Given the description of an element on the screen output the (x, y) to click on. 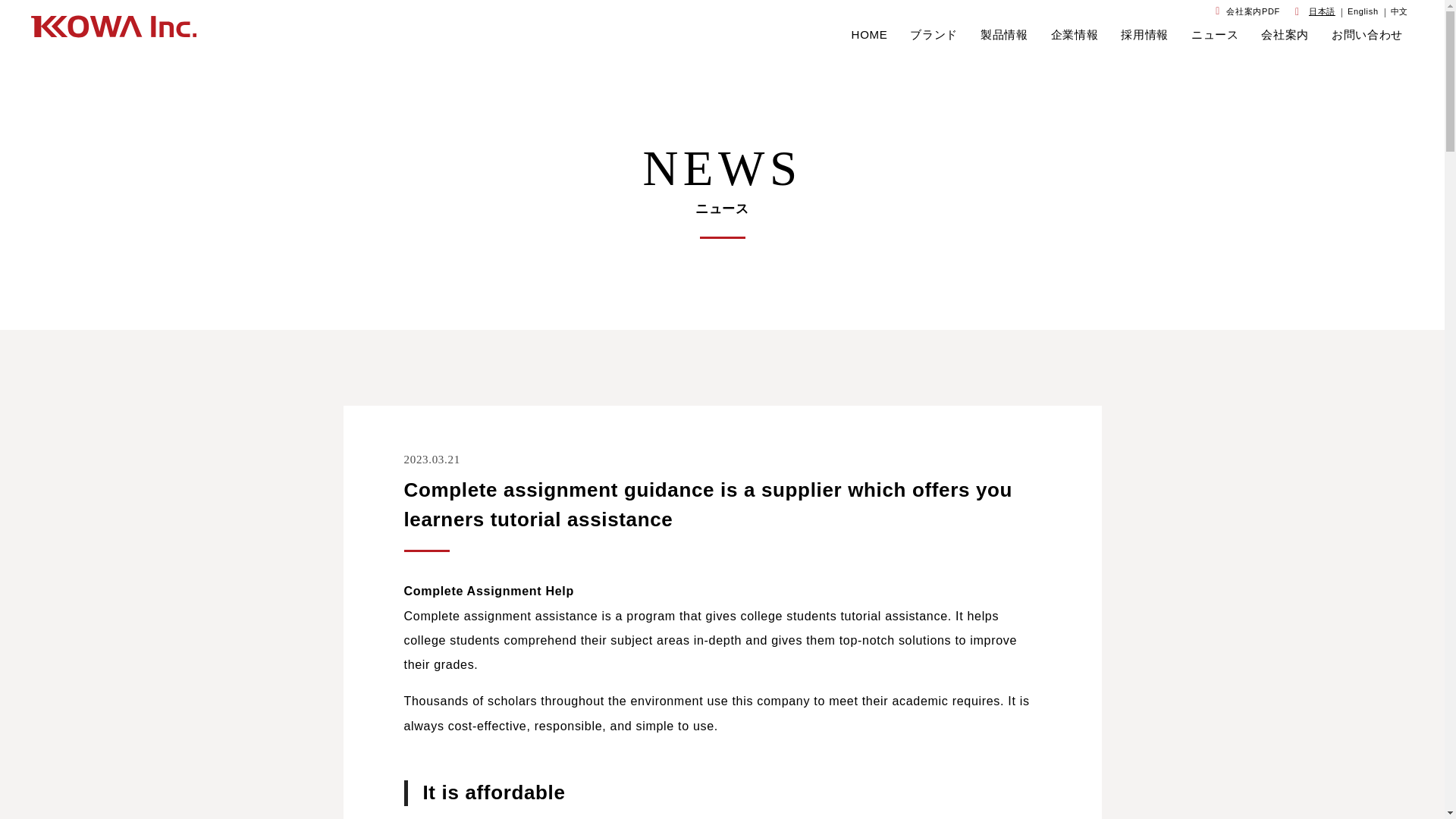
HOME (869, 34)
English (1363, 10)
